Given the description of an element on the screen output the (x, y) to click on. 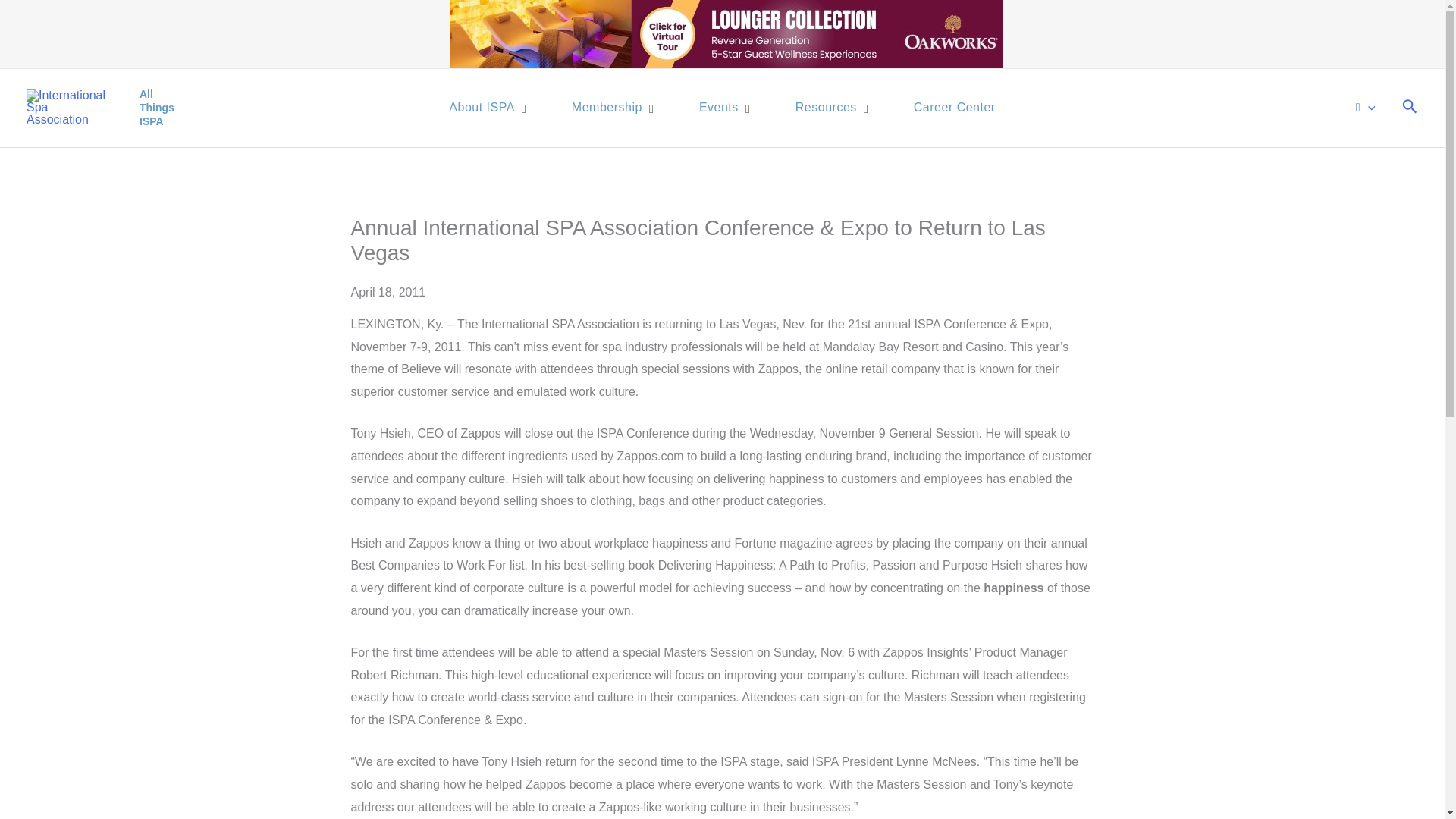
Resources (722, 107)
About ISPA (828, 107)
Events (483, 107)
Membership (720, 107)
